Given the description of an element on the screen output the (x, y) to click on. 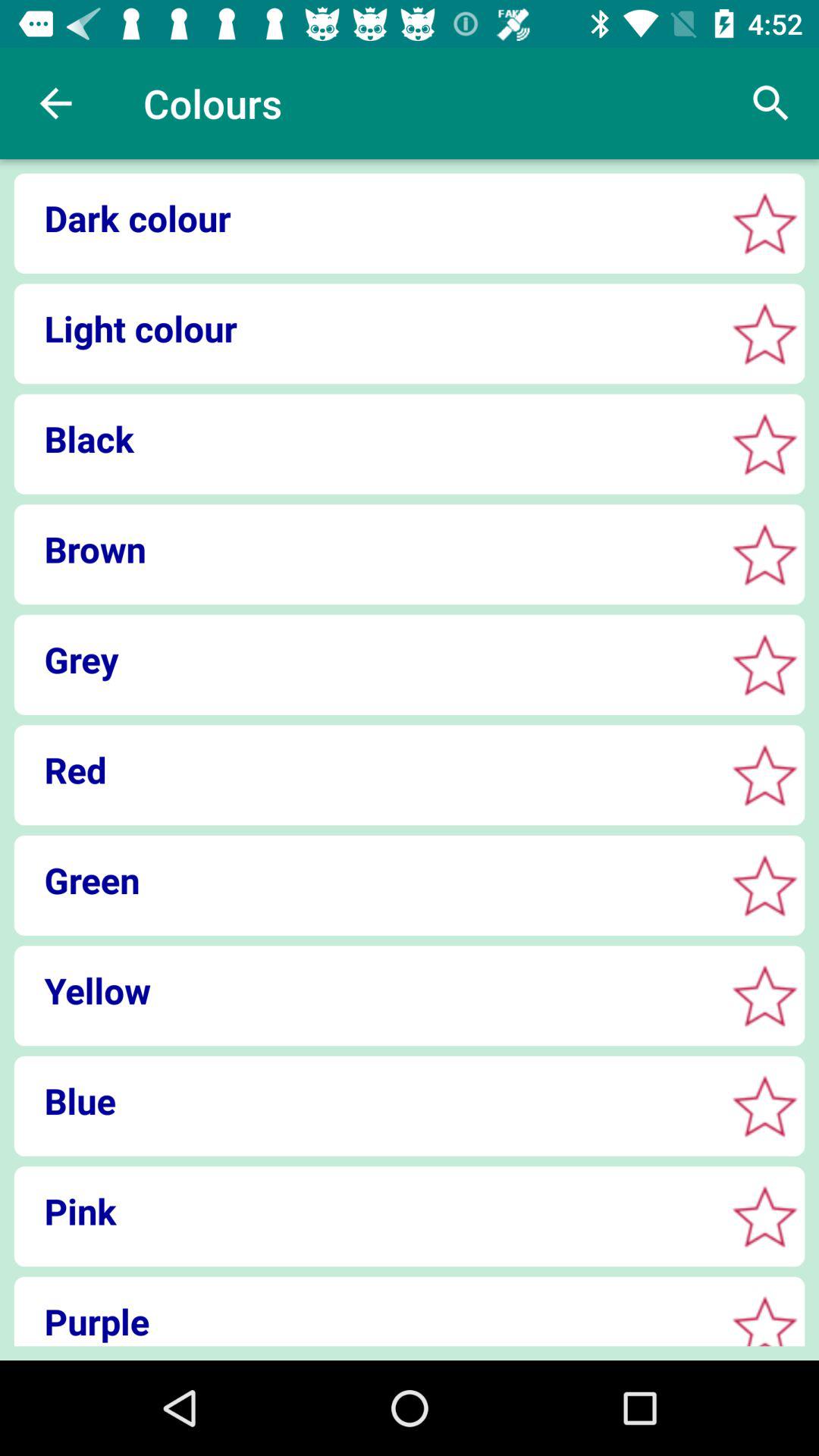
favorite light color (764, 333)
